Given the description of an element on the screen output the (x, y) to click on. 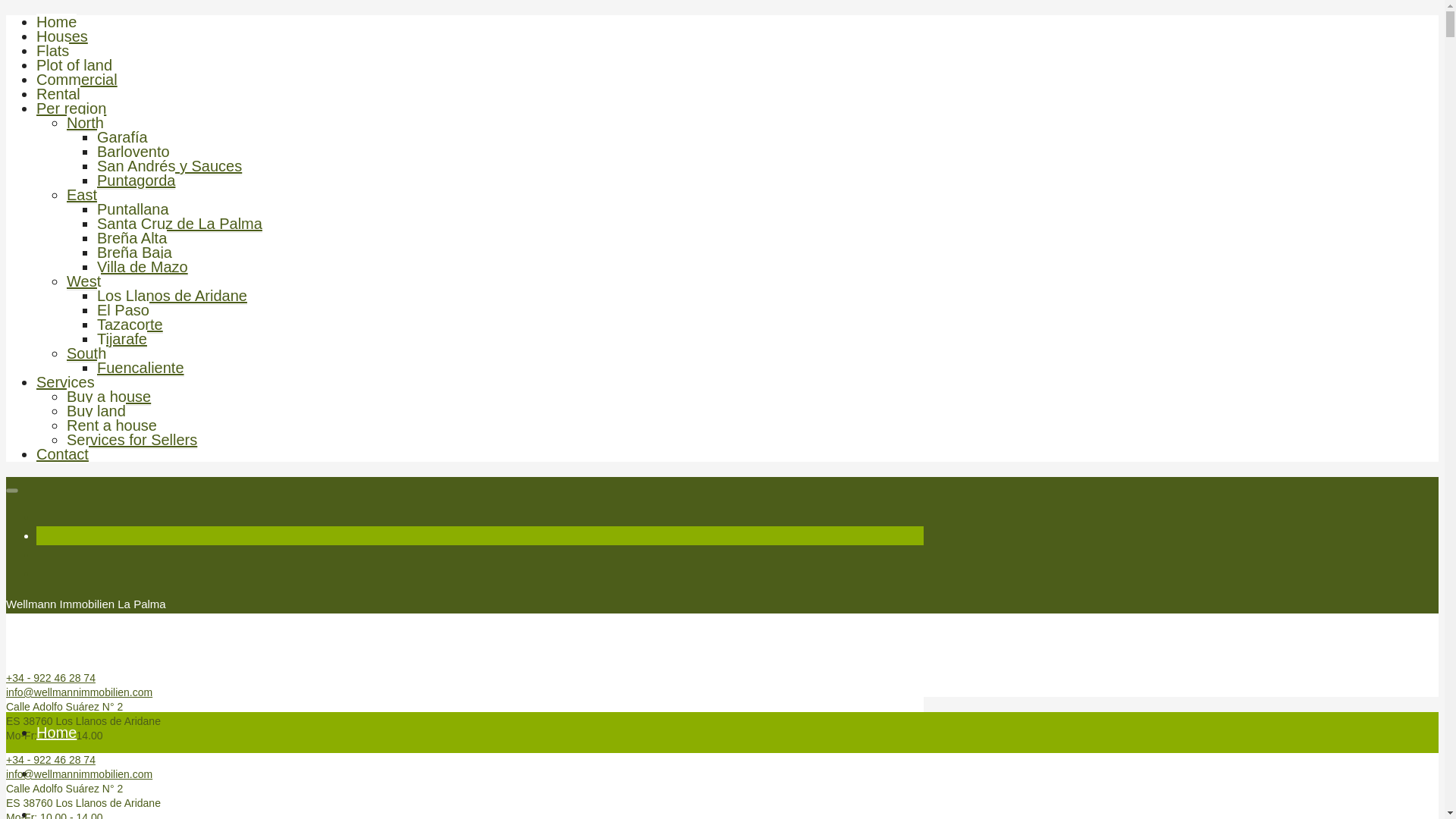
West (83, 281)
Home (56, 22)
Los Llanos de Aridane (172, 295)
Services (65, 382)
Plot of land (74, 65)
Flats (52, 50)
North (84, 122)
Home (56, 732)
Tijarafe (122, 339)
Santa Cruz de La Palma (179, 223)
Contact (62, 454)
Puntagorda (135, 180)
Buy a house (108, 396)
Services for Sellers (131, 439)
Per region (71, 108)
